Given the description of an element on the screen output the (x, y) to click on. 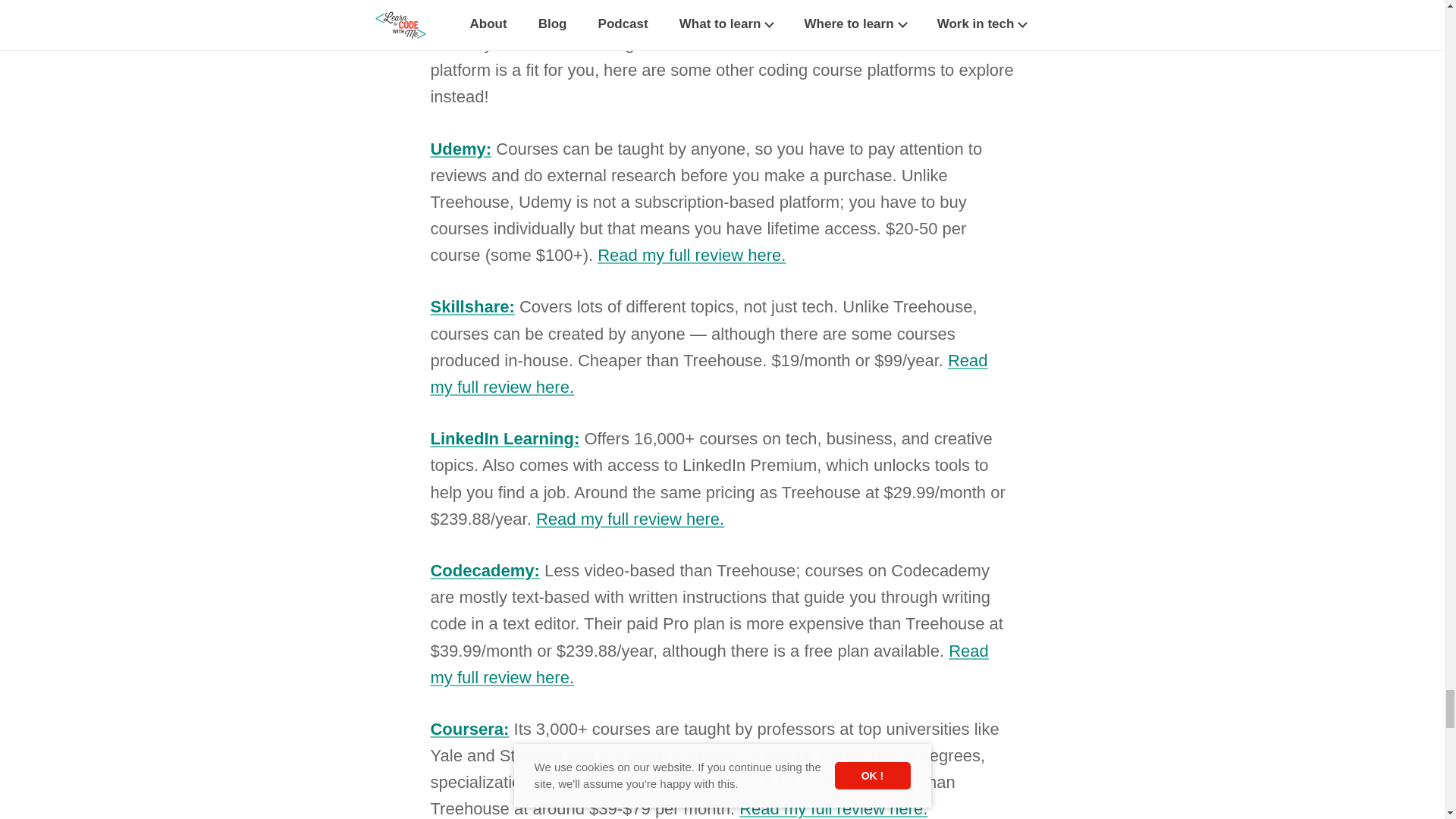
Coursera - Homepage (468, 728)
Udemy - Homepage (460, 148)
Codecademy - Homepage (483, 570)
Skillshare - Homepage (471, 306)
Linkedin Learning - Homepage (504, 438)
